Given the description of an element on the screen output the (x, y) to click on. 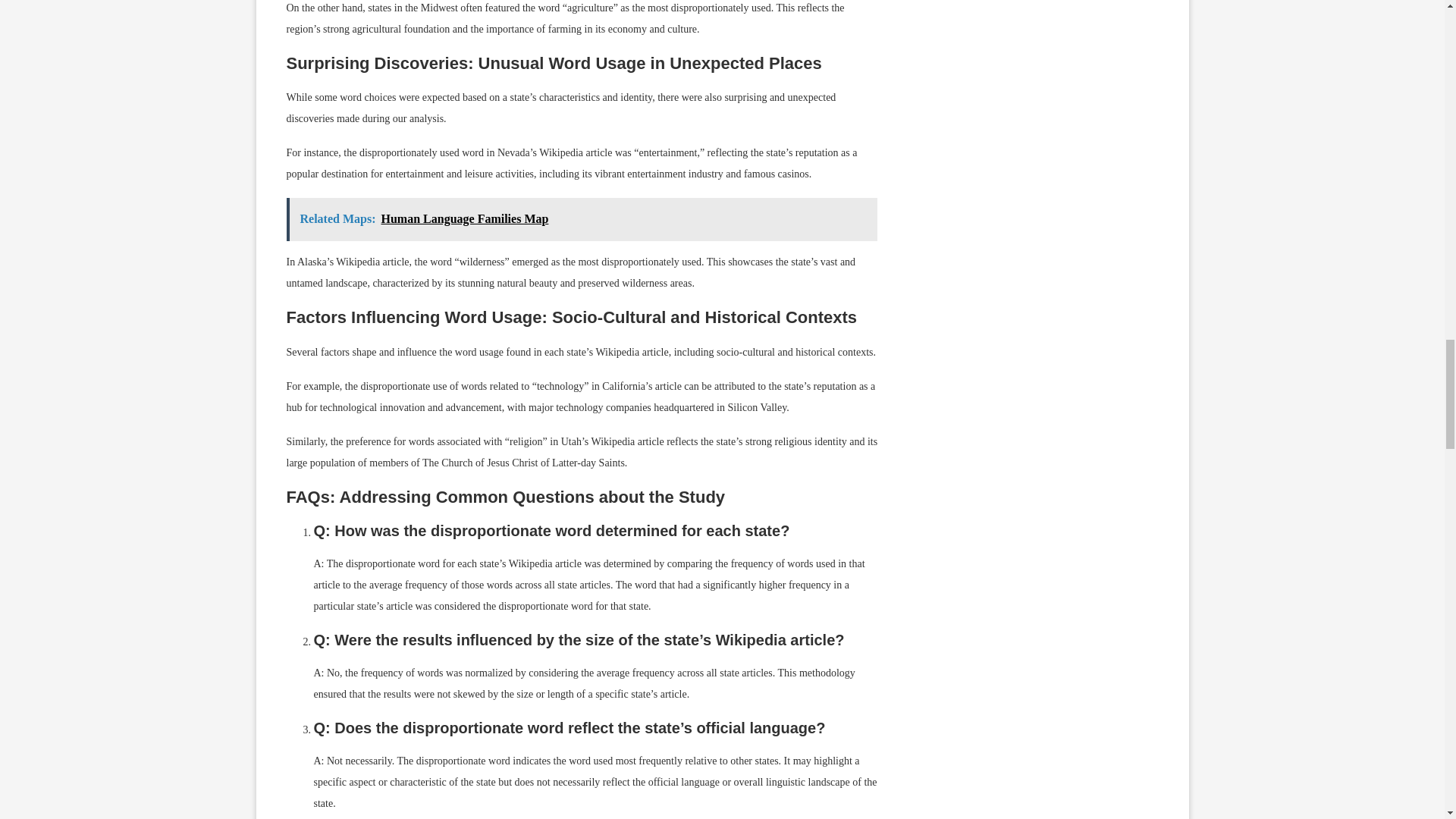
Related Maps:  Human Language Families Map (581, 219)
